Given the description of an element on the screen output the (x, y) to click on. 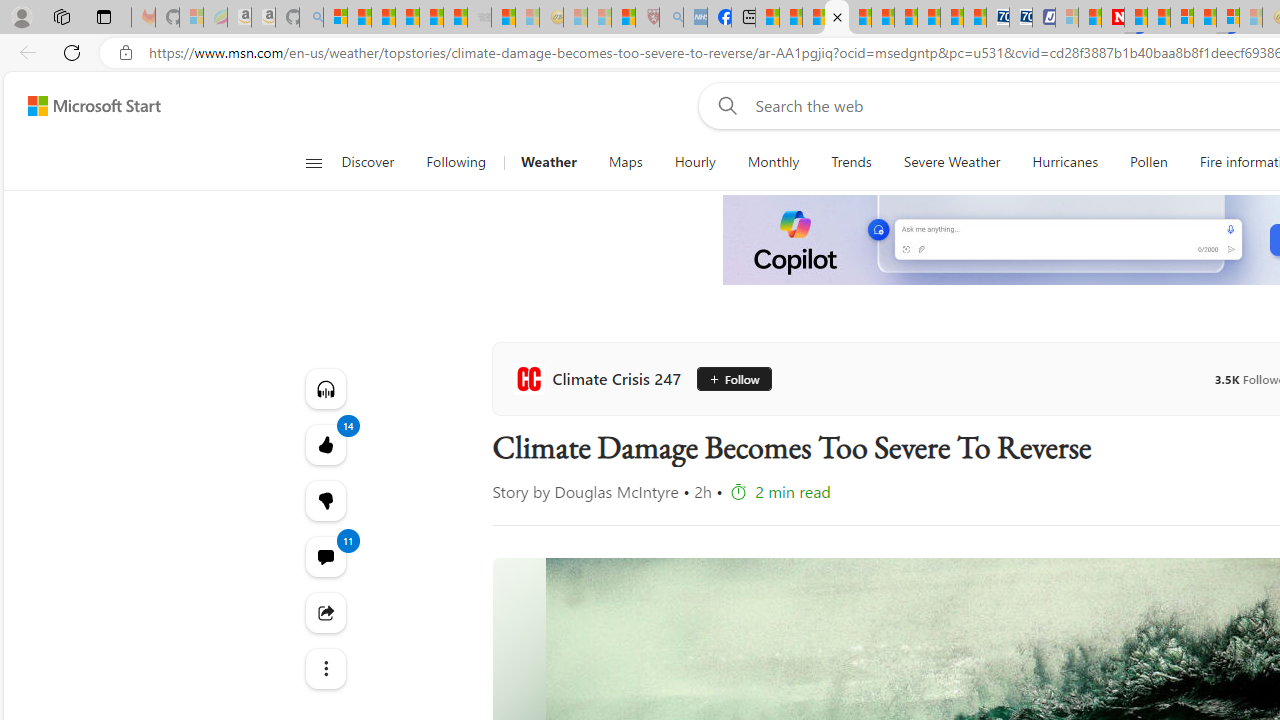
Pollen (1148, 162)
Severe Weather (952, 162)
Combat Siege - Sleeping (479, 17)
Climate Damage Becomes Too Severe To Reverse (836, 17)
Monthly (773, 162)
